Given the description of an element on the screen output the (x, y) to click on. 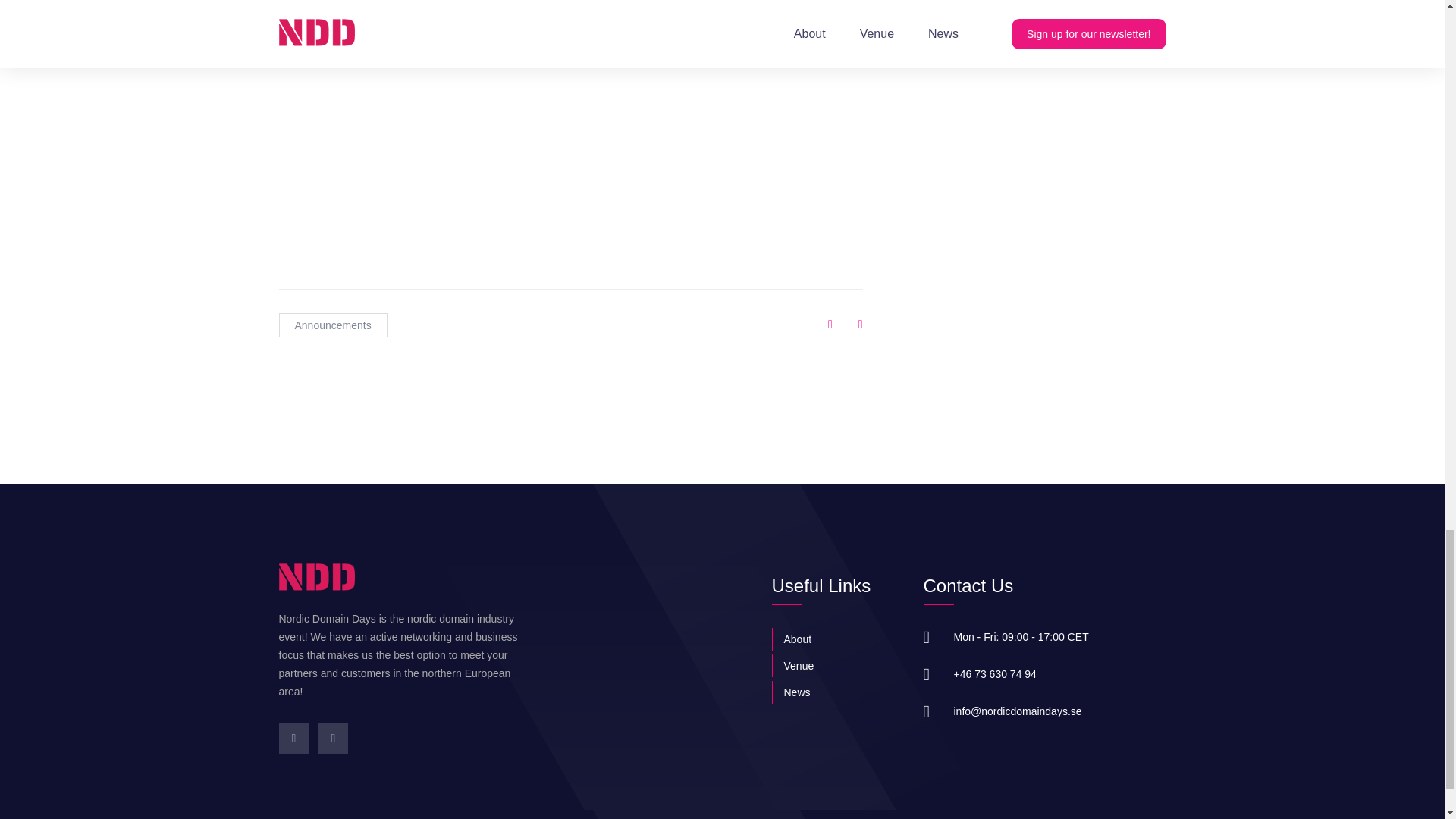
News (836, 691)
About (836, 639)
Venue (836, 665)
Announcements (333, 324)
